Given the description of an element on the screen output the (x, y) to click on. 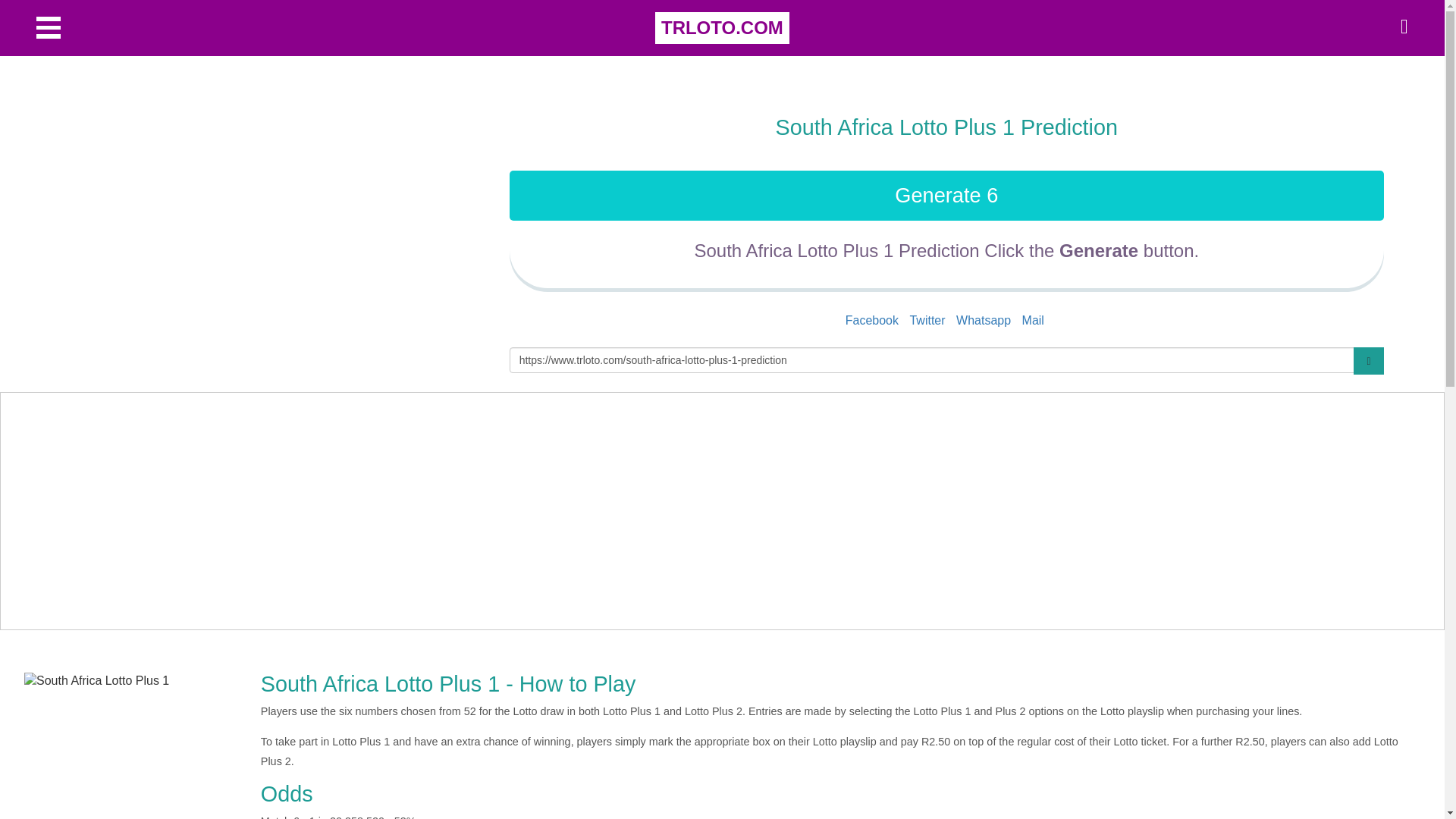
Generate 6 (946, 195)
Mail (1032, 319)
O (48, 26)
Twitter (926, 319)
Advertisement (273, 191)
Facebook (871, 319)
Whatsapp (983, 319)
TRLOTO.COM (722, 28)
